Given the description of an element on the screen output the (x, y) to click on. 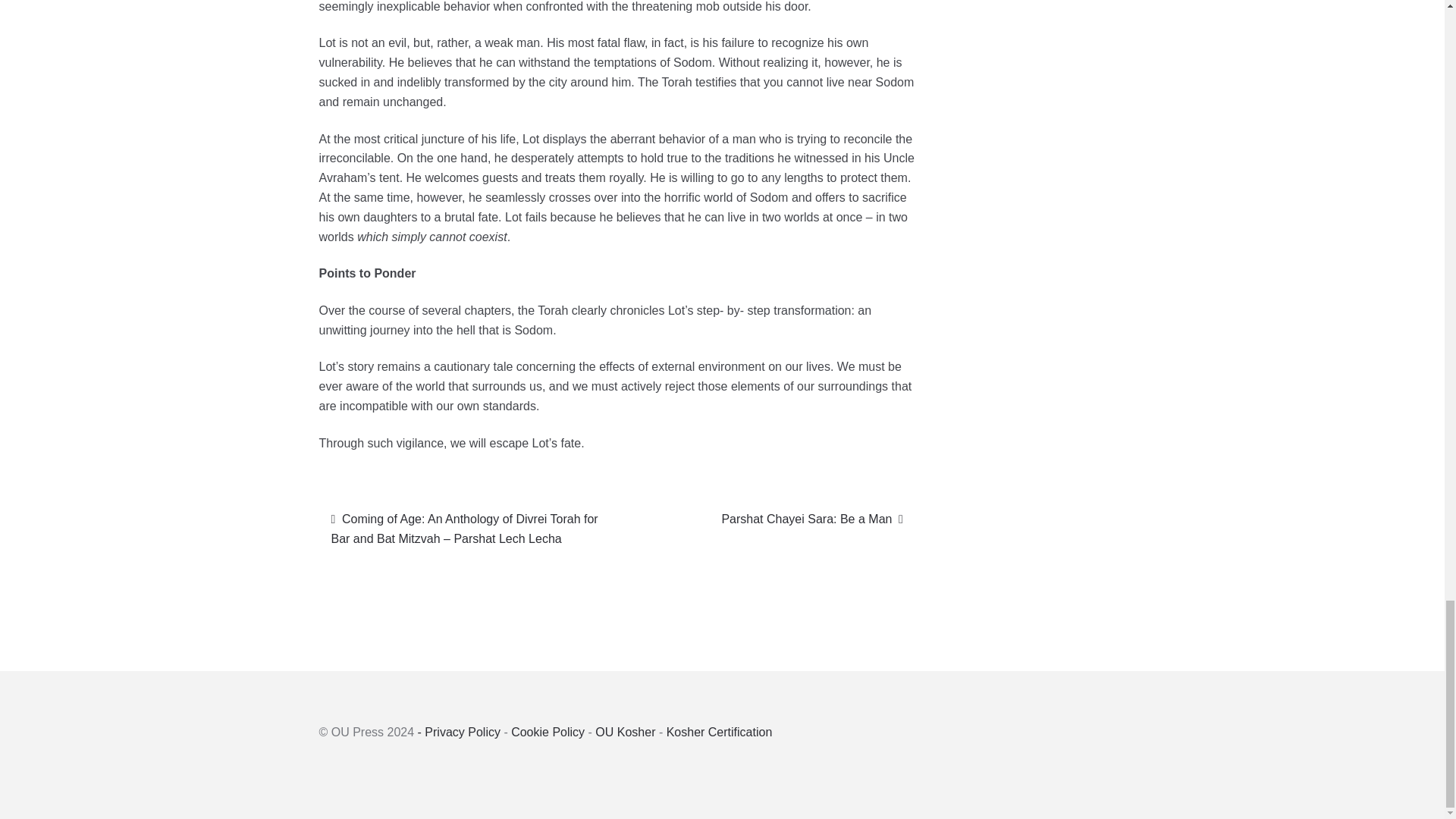
How to get kosher certification (719, 731)
